Given the description of an element on the screen output the (x, y) to click on. 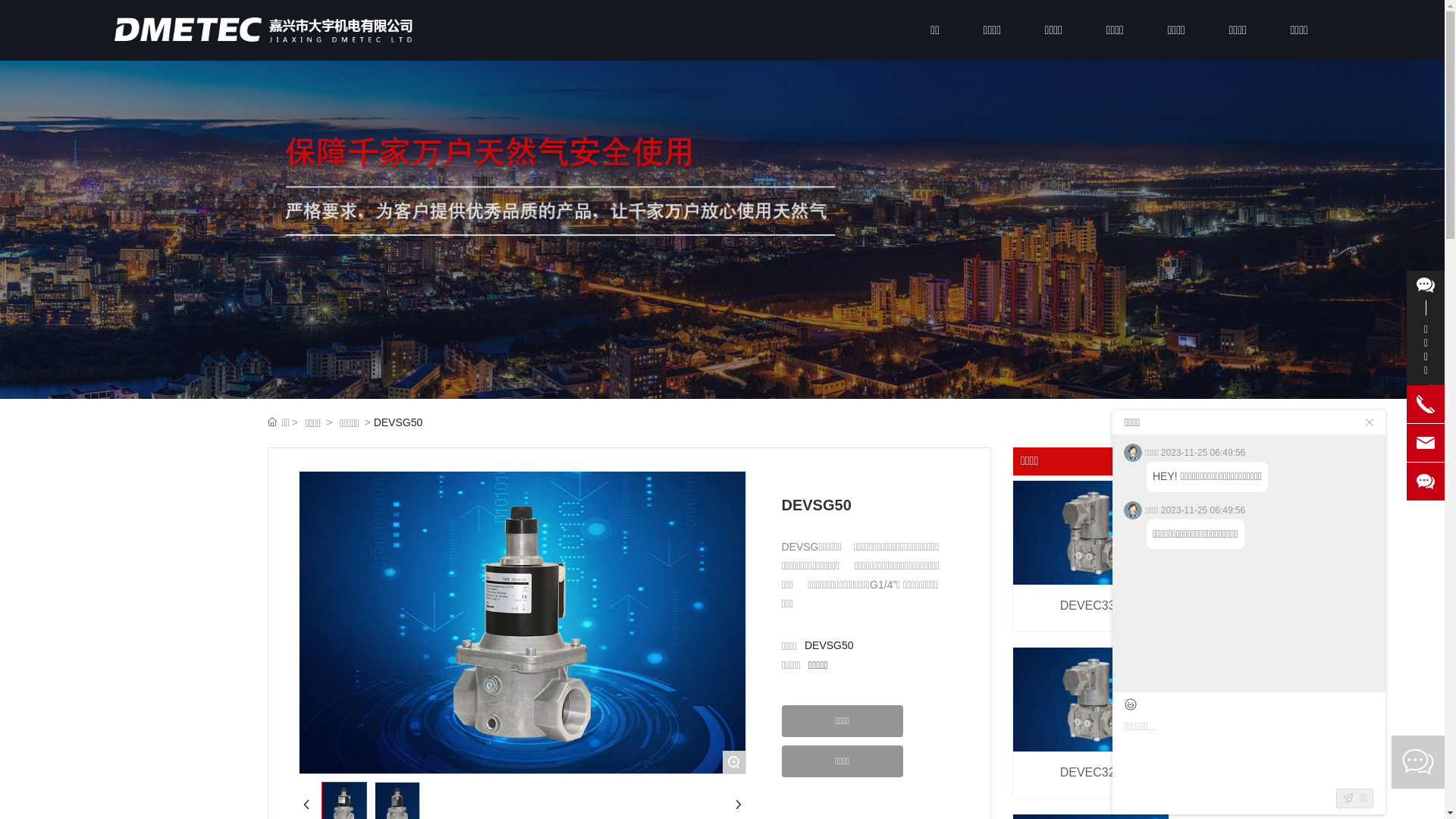
DEVEC325 Element type: text (1091, 771)
DEVEC332 Element type: text (1091, 605)
